Given the description of an element on the screen output the (x, y) to click on. 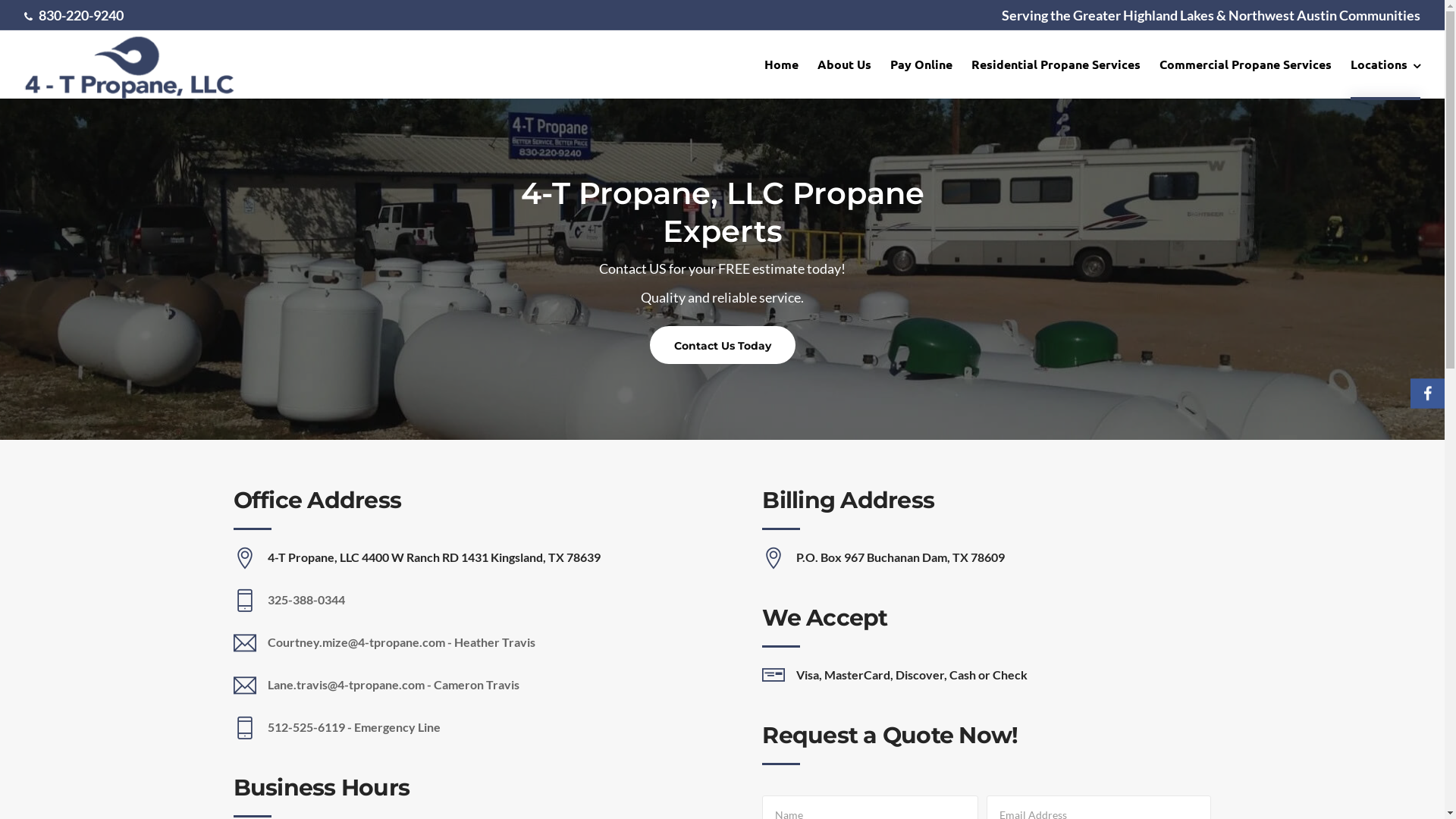
Courtney.mize@4-tpropane.com - Heather Travis Element type: text (400, 641)
Commercial Propane Services Element type: text (1245, 64)
Residential Propane Services Element type: text (1055, 64)
Locations Element type: text (1385, 65)
Home Element type: text (781, 64)
325-388-0344 Element type: text (305, 599)
Contact Us Today Element type: text (721, 345)
830-220-9240 Element type: text (80, 14)
Lane.travis@4-tpropane.com - Cameron Travis Element type: text (392, 684)
About Us Element type: text (844, 64)
Pay Online Element type: text (921, 64)
512-525-6119 - Emergency Line Element type: text (352, 726)
